Given the description of an element on the screen output the (x, y) to click on. 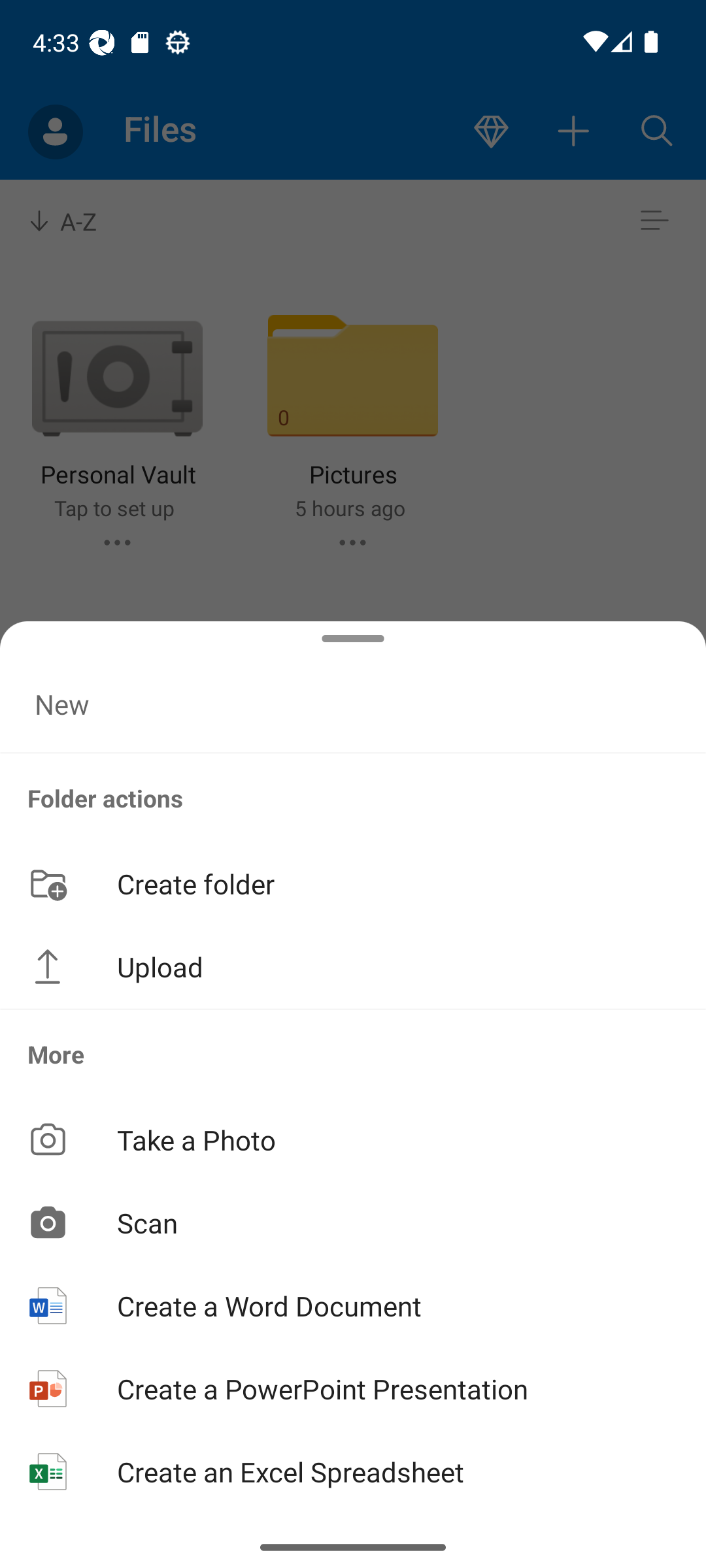
Create folder button Create folder (353, 883)
Upload button Upload (353, 966)
Take a Photo button Take a Photo (353, 1138)
Scan button Scan (353, 1221)
